Given the description of an element on the screen output the (x, y) to click on. 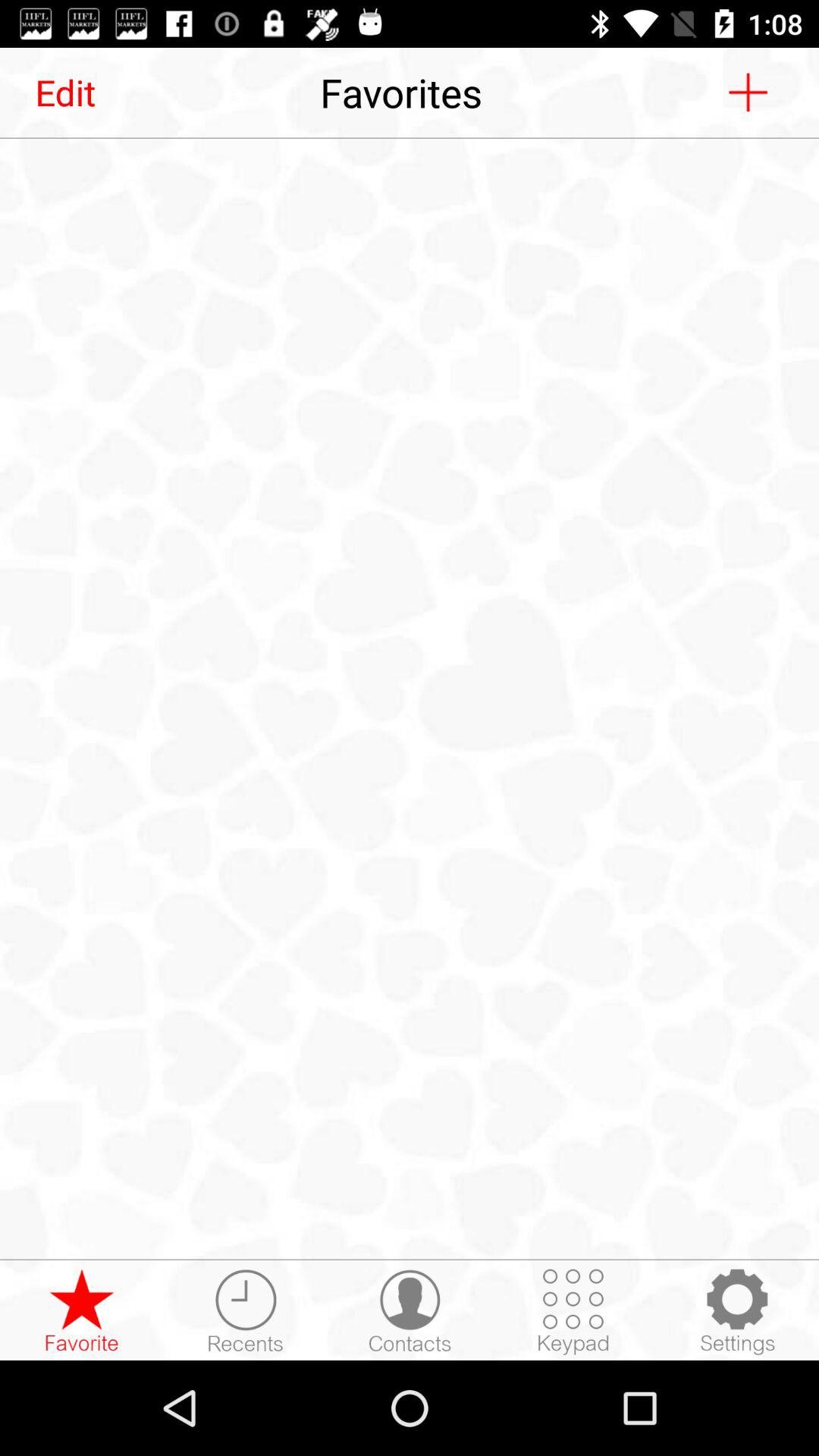
contacts icon (409, 1311)
